Given the description of an element on the screen output the (x, y) to click on. 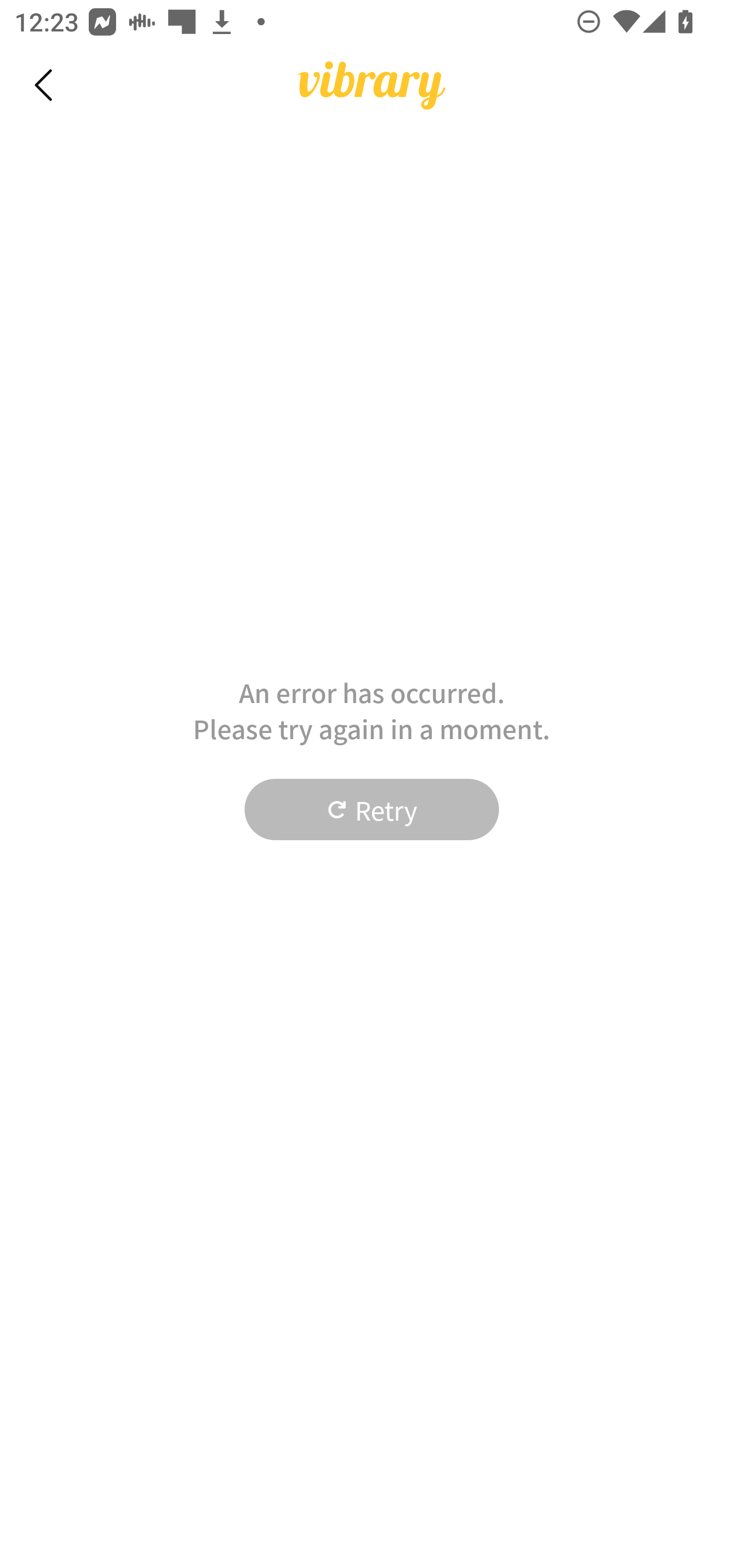
Retry (371, 809)
